Given the description of an element on the screen output the (x, y) to click on. 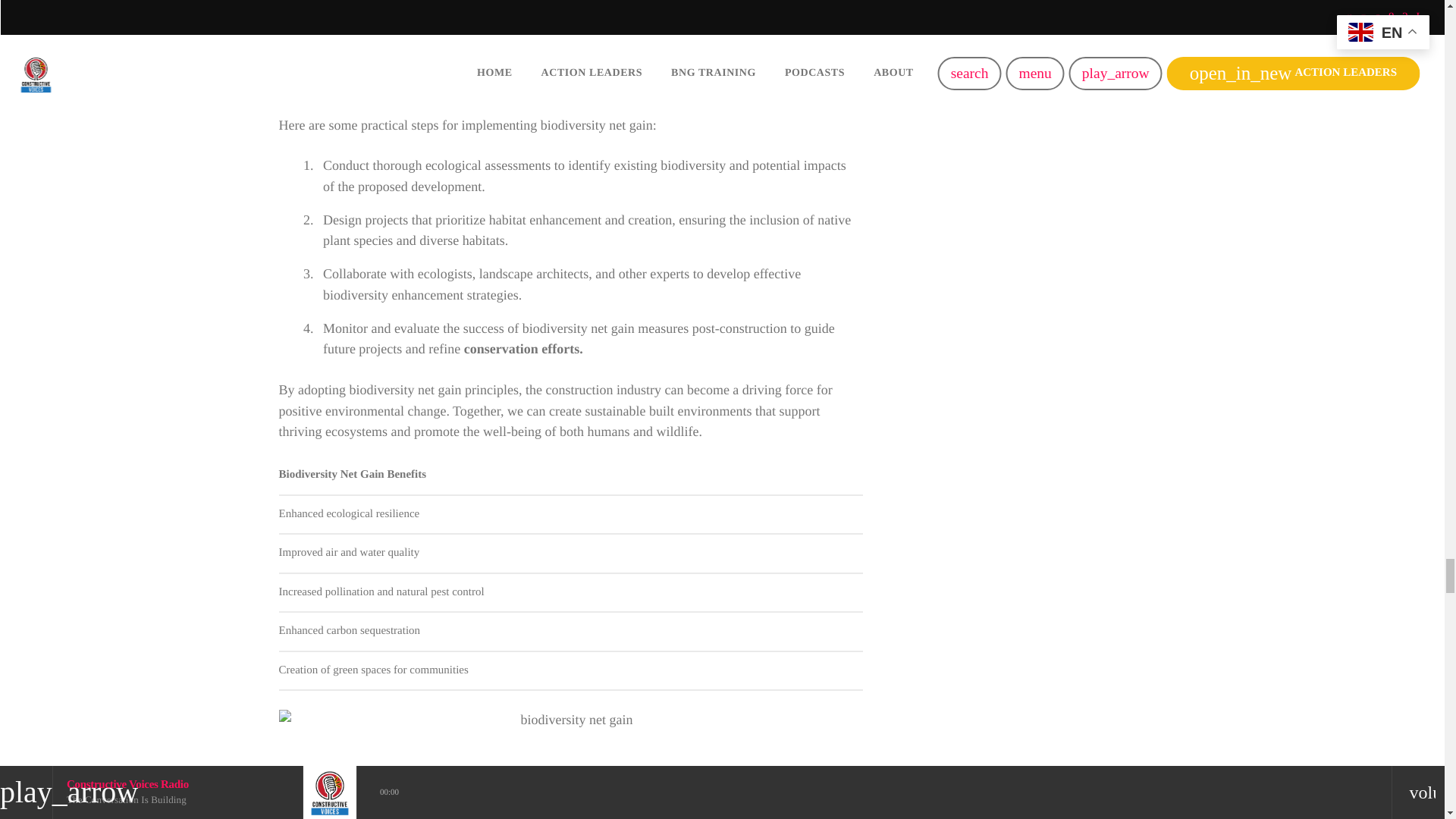
biodiversity net gain (571, 764)
